Given the description of an element on the screen output the (x, y) to click on. 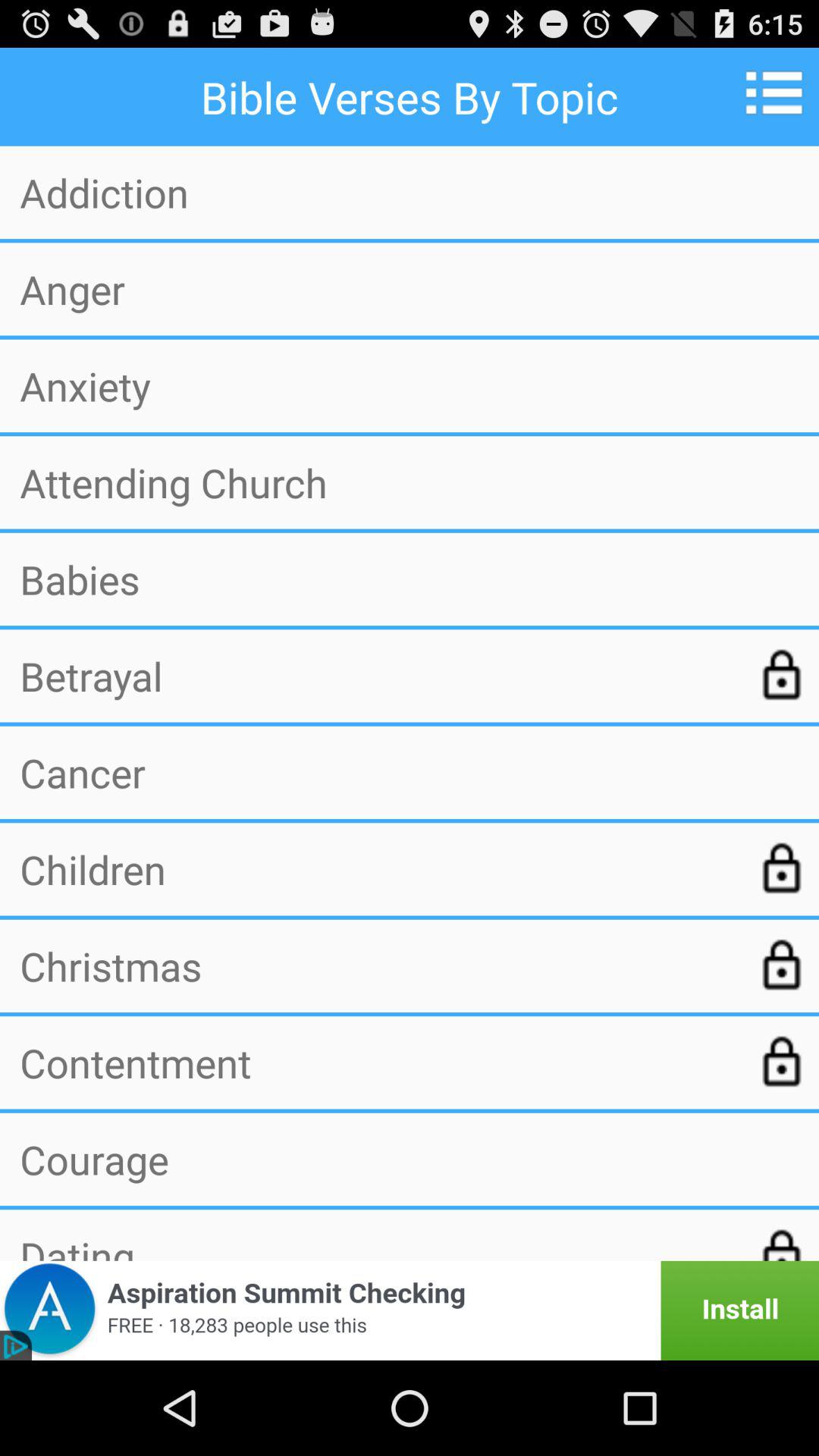
flip until the cancer app (409, 772)
